Given the description of an element on the screen output the (x, y) to click on. 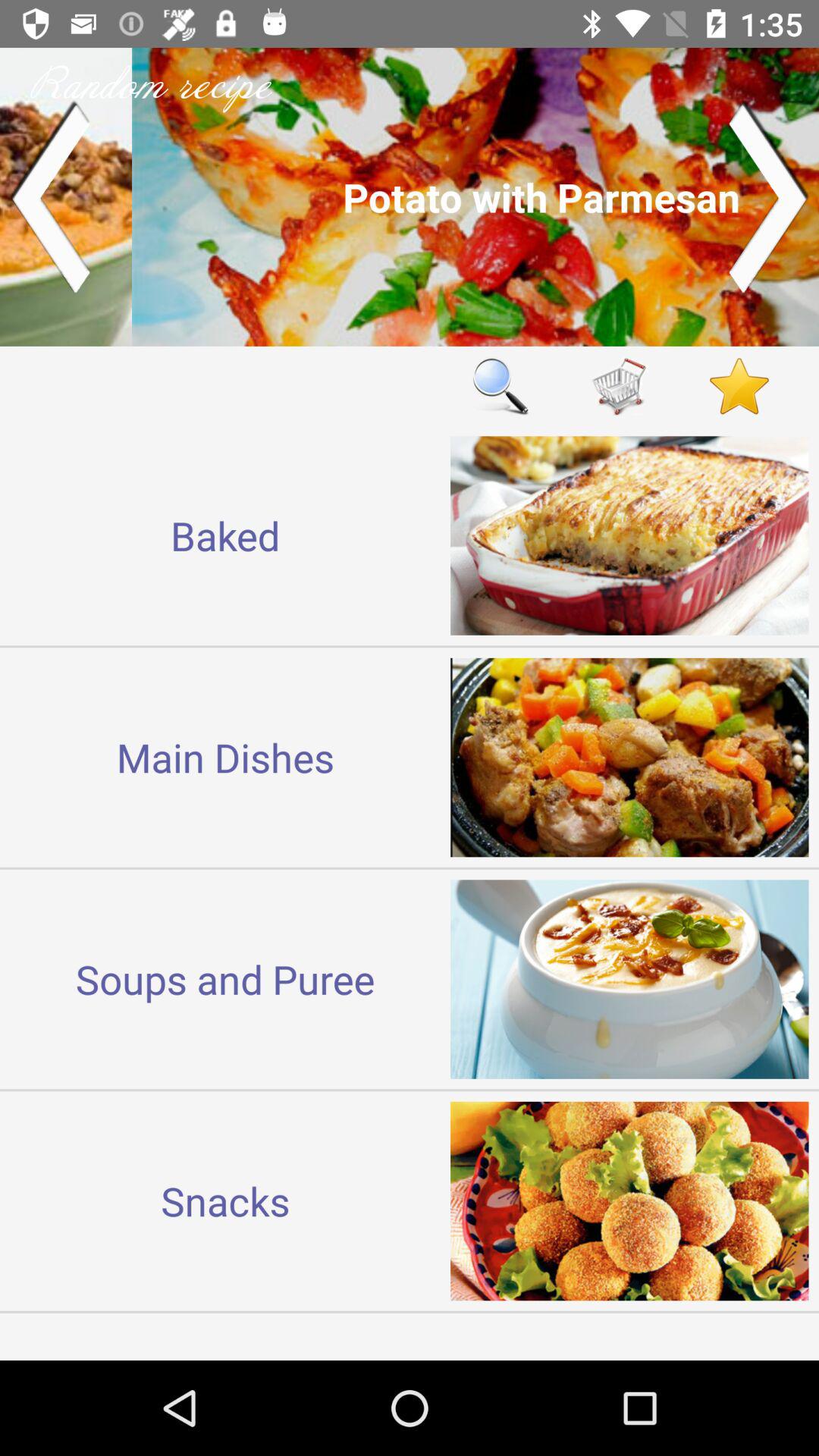
put in shopping cart (619, 385)
